Given the description of an element on the screen output the (x, y) to click on. 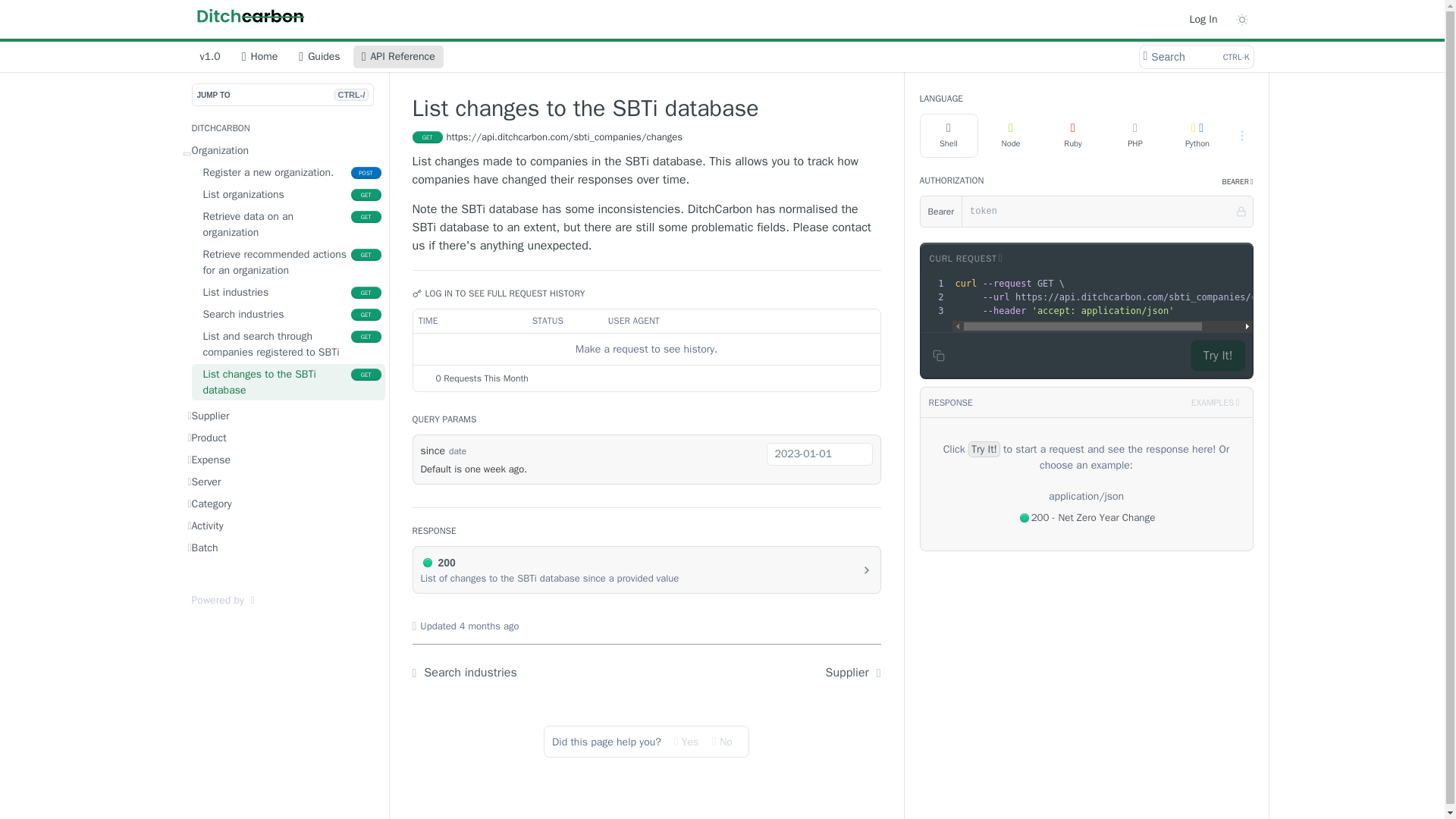
Expense (287, 313)
Product (282, 459)
Home (287, 262)
Supplier (282, 437)
Toggle library (259, 56)
Log In (282, 415)
API Reference (287, 381)
Organization (965, 258)
Guides (287, 172)
